Given the description of an element on the screen output the (x, y) to click on. 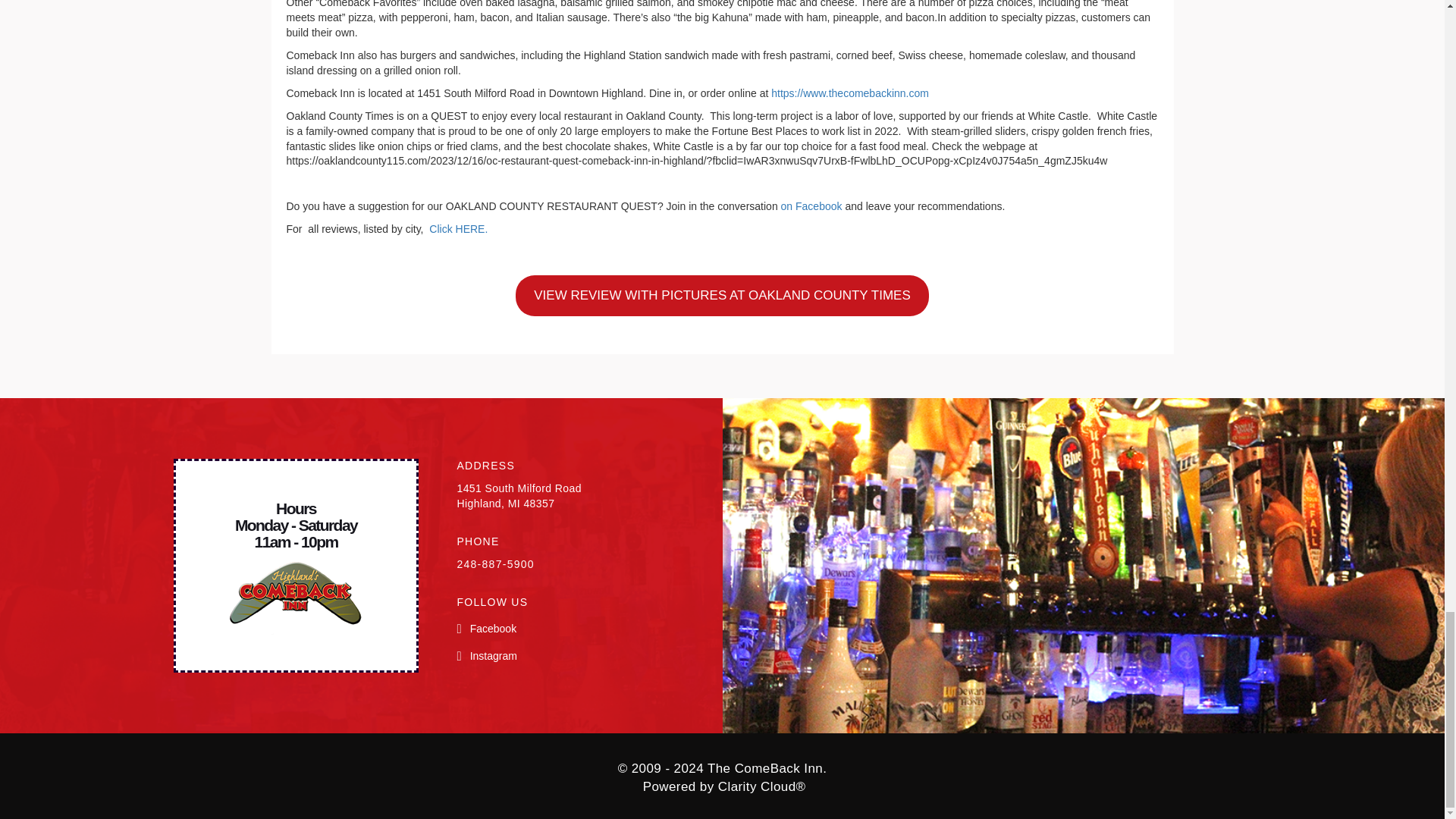
Logo 2 (296, 597)
on Facebook (811, 205)
Click HERE. (458, 228)
